Given the description of an element on the screen output the (x, y) to click on. 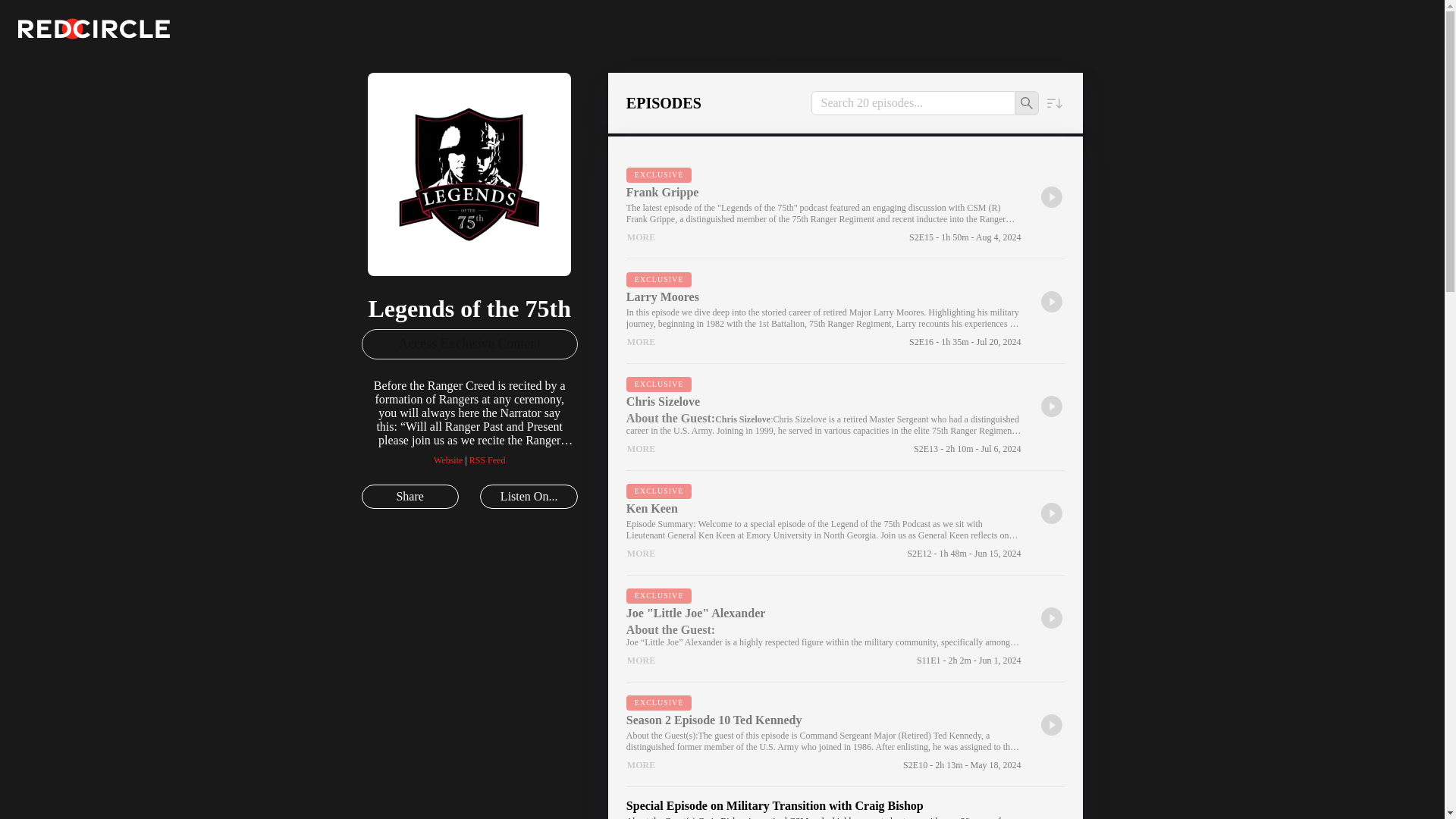
Access Exclusive Content (468, 344)
MORE (641, 764)
RSS Feed (486, 460)
Listen On... (528, 496)
MORE (641, 341)
Chris Sizelove (824, 401)
Ken Keen (824, 508)
Website (448, 460)
Frank Grippe (824, 192)
MORE (641, 660)
MORE (641, 237)
Larry Moores (824, 296)
Season 2 Episode 10 Ted Kennedy (824, 720)
Special Episode on Military Transition with Craig Bishop (824, 806)
Joe "Little Joe" Alexander (824, 612)
